Given the description of an element on the screen output the (x, y) to click on. 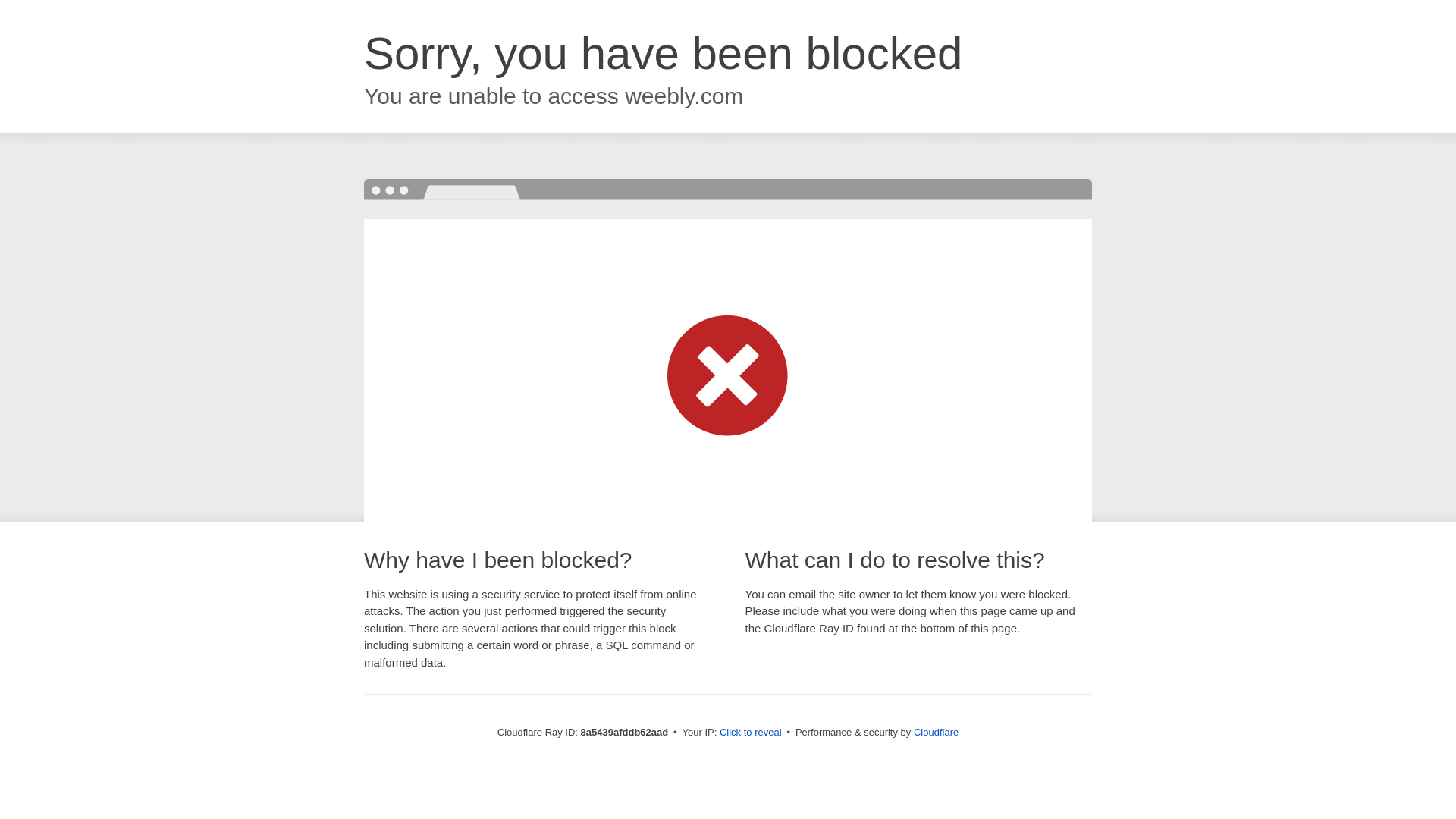
Cloudflare (936, 731)
Click to reveal (750, 732)
